Given the description of an element on the screen output the (x, y) to click on. 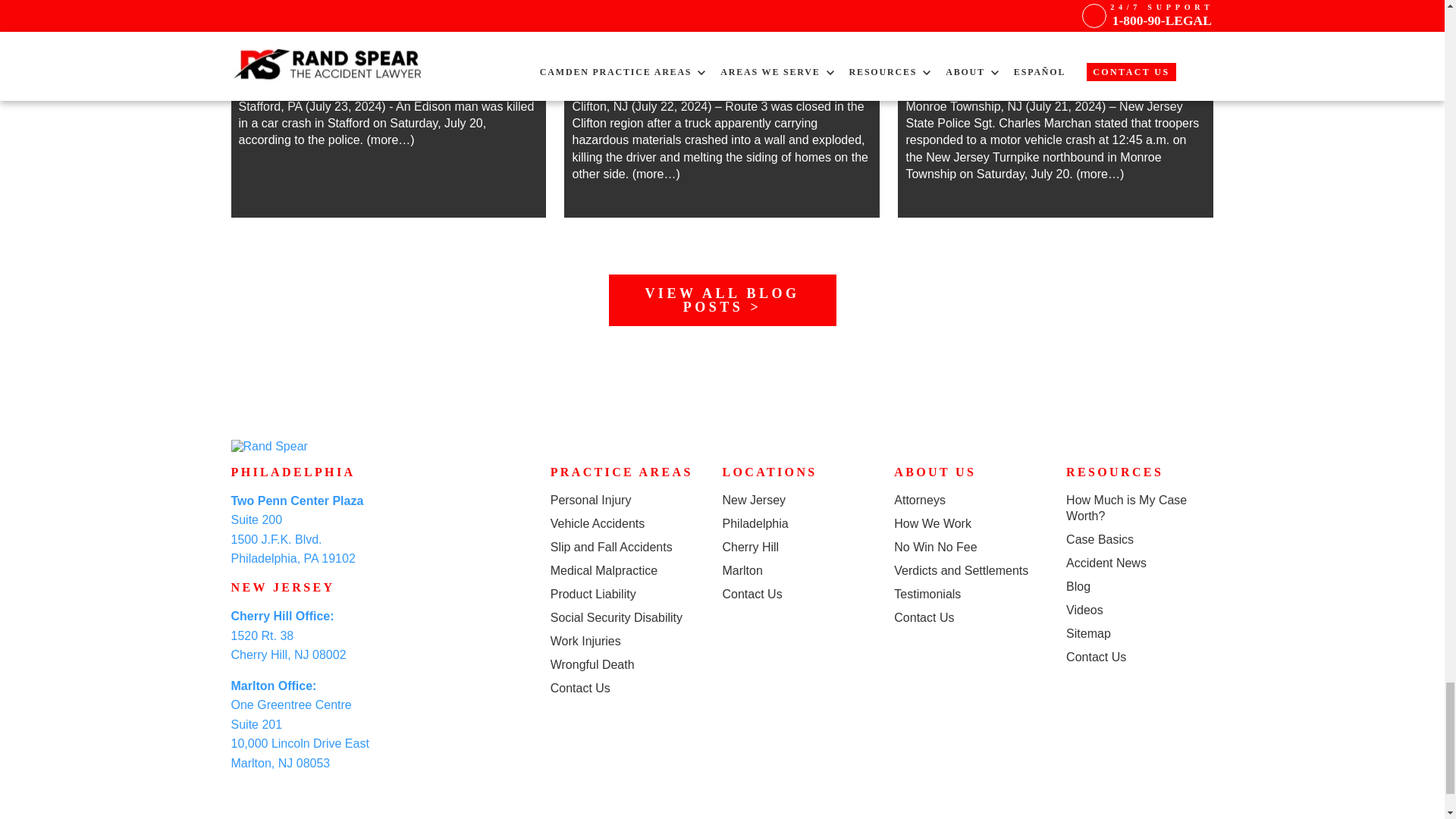
READ MORE (388, 70)
READ MORE (722, 24)
READ MORE (388, 24)
READ MORE (1055, 24)
READ MORE (722, 70)
